Given the description of an element on the screen output the (x, y) to click on. 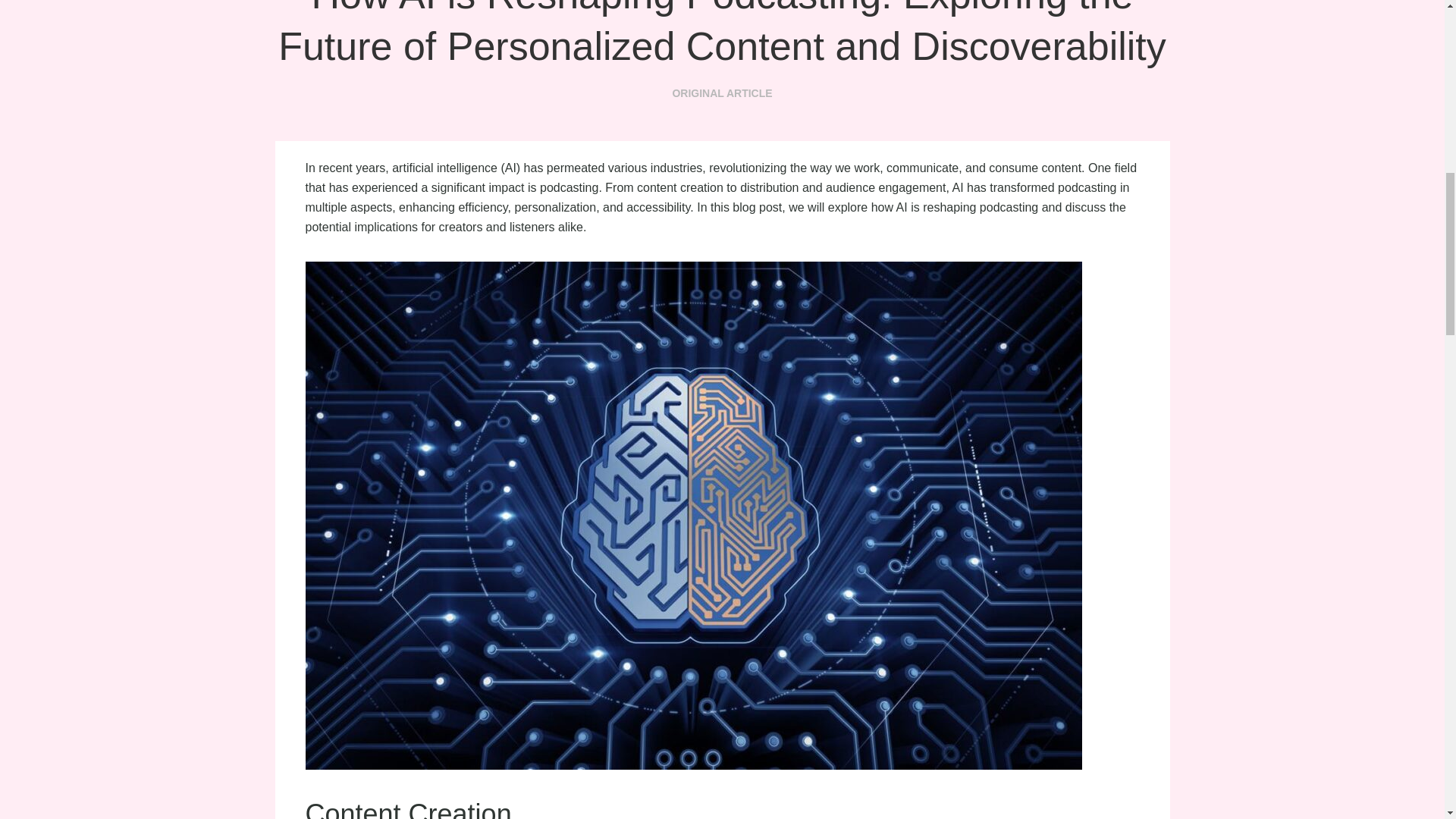
ORIGINAL ARTICLE (721, 92)
